Given the description of an element on the screen output the (x, y) to click on. 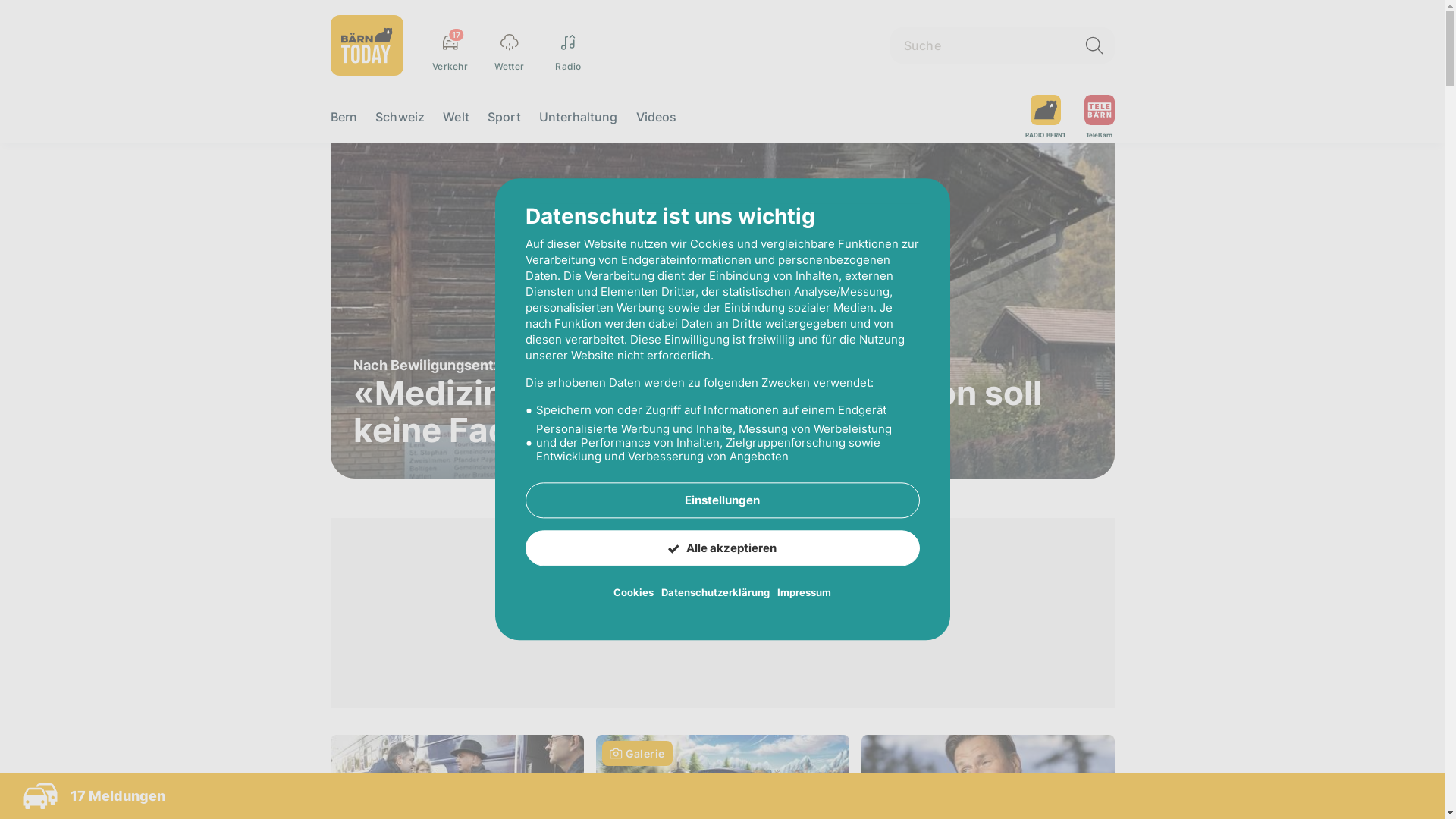
Alle akzeptieren Element type: text (721, 548)
Impressum Element type: text (803, 592)
Schweiz Element type: text (399, 116)
Videos Element type: text (656, 116)
Einstellungen Element type: text (721, 500)
Sport Element type: text (503, 116)
Welt Element type: text (455, 116)
Bern Element type: text (343, 116)
Cookies Element type: text (633, 592)
Wetter Element type: text (508, 45)
Unterhaltung Element type: text (578, 116)
RADIO BERN1 Element type: text (1045, 116)
17
Verkehr Element type: text (449, 45)
